Given the description of an element on the screen output the (x, y) to click on. 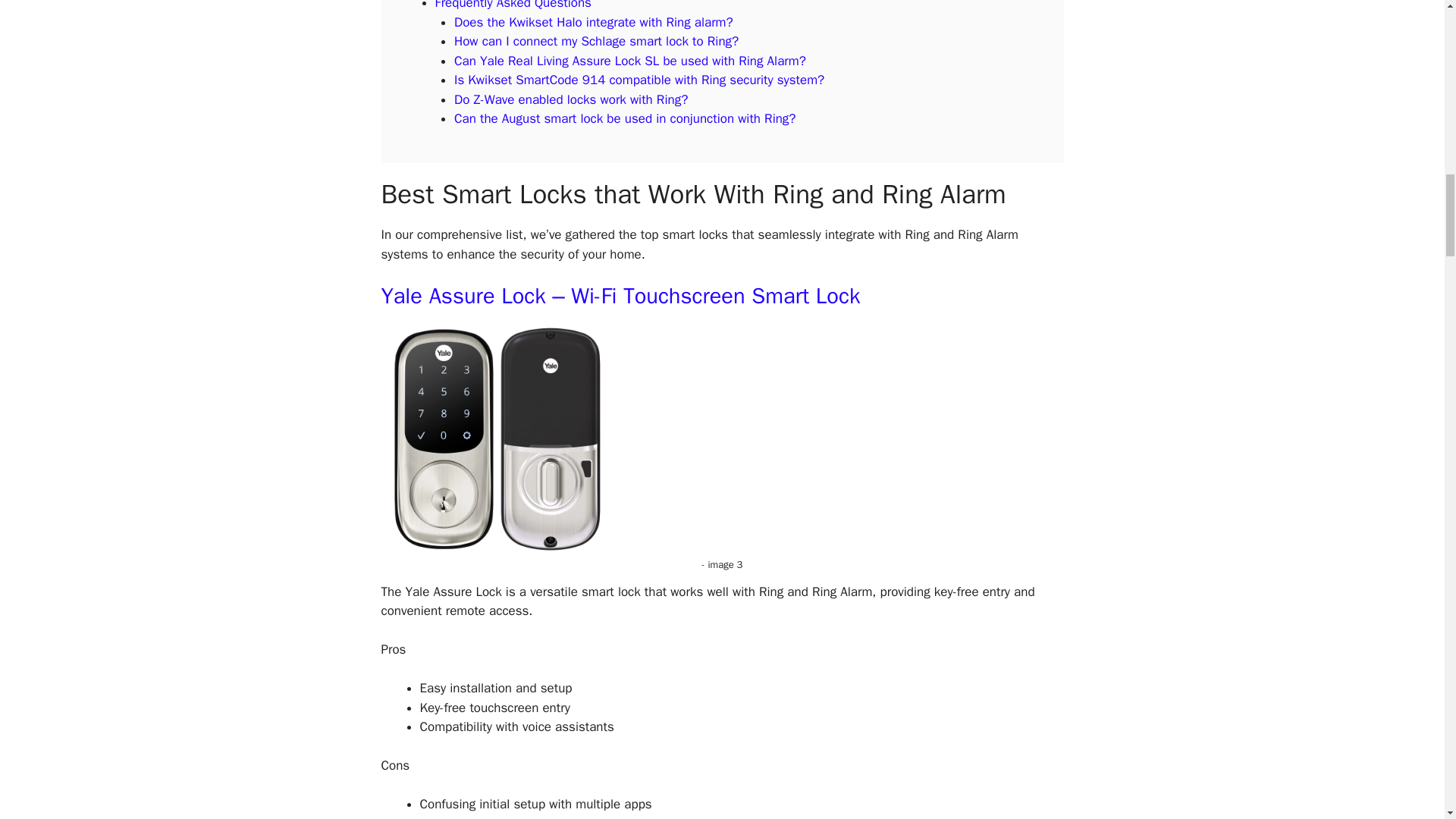
Smart Locks That Work With Ring July 26, 2024 (494, 438)
